Given the description of an element on the screen output the (x, y) to click on. 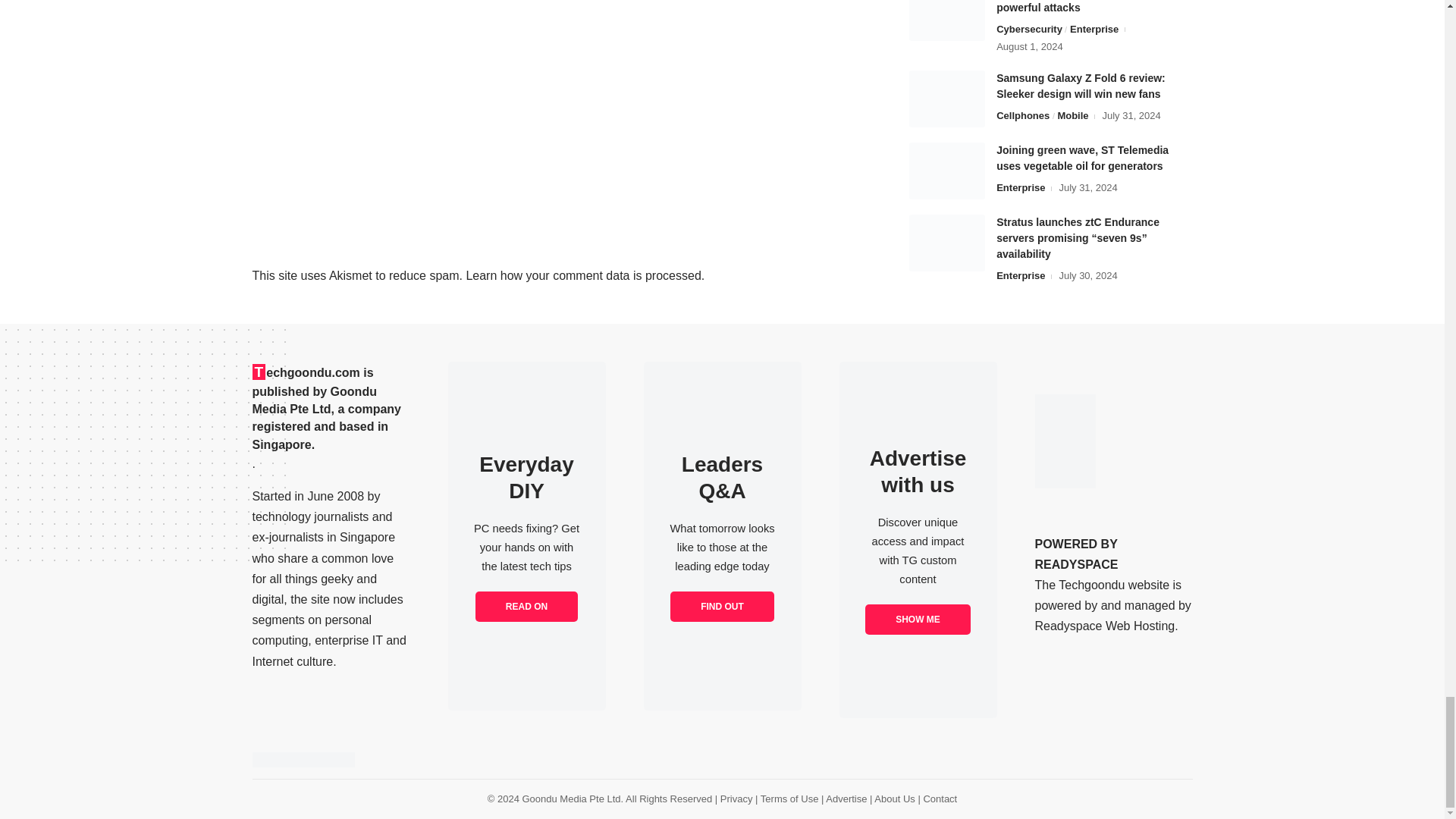
Techgoondu (302, 759)
